Given the description of an element on the screen output the (x, y) to click on. 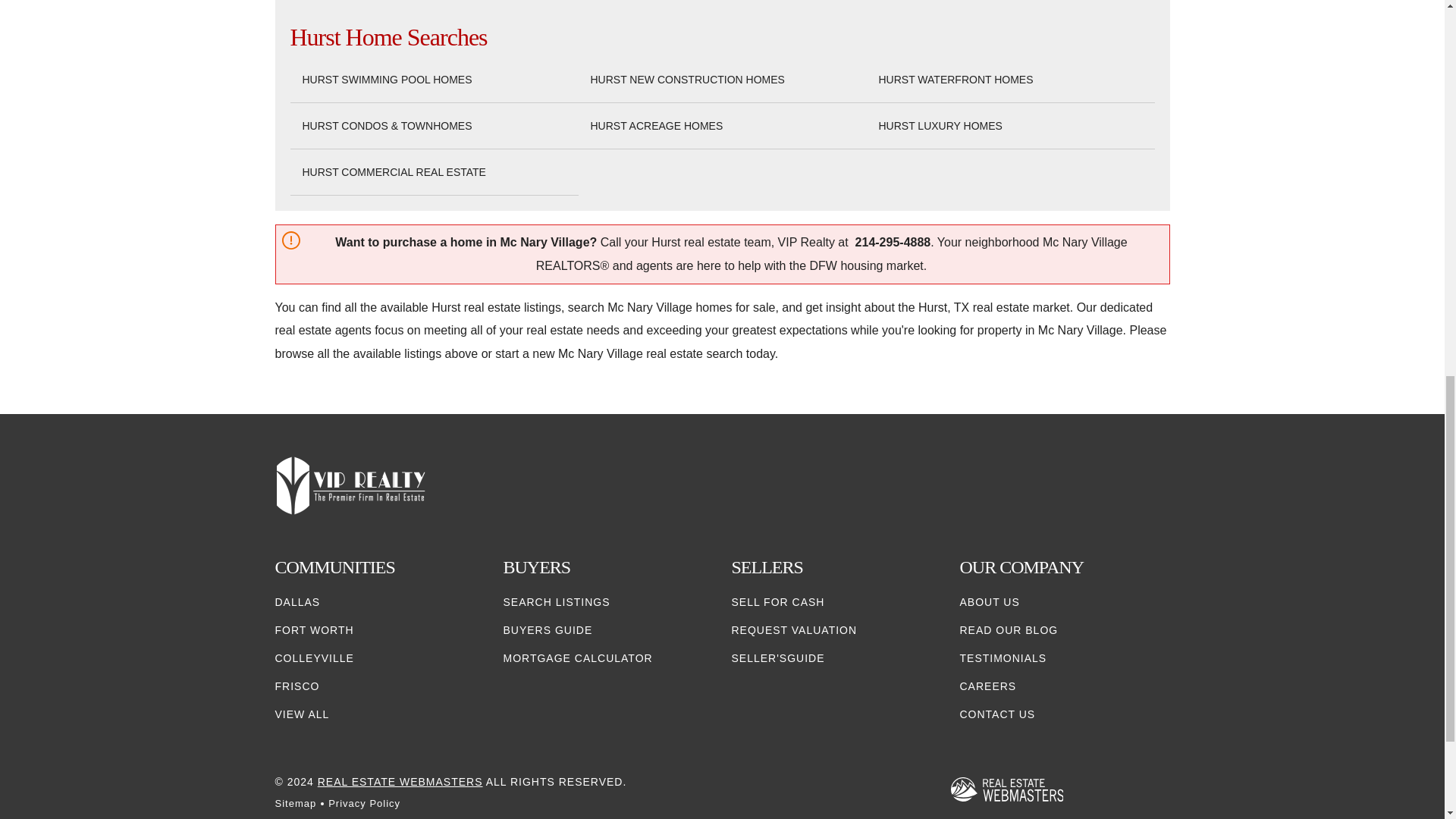
Hurst Luxury Homes (939, 125)
Hurst Condos Townhomes (386, 125)
Hurst Acreage Homes (655, 125)
Hurst Swimming Pool Homes (386, 79)
Hurst Lakefront Homes (954, 79)
Hurst Commercial Real Estate (392, 172)
Hurst New Construction Homes (686, 79)
